Given the description of an element on the screen output the (x, y) to click on. 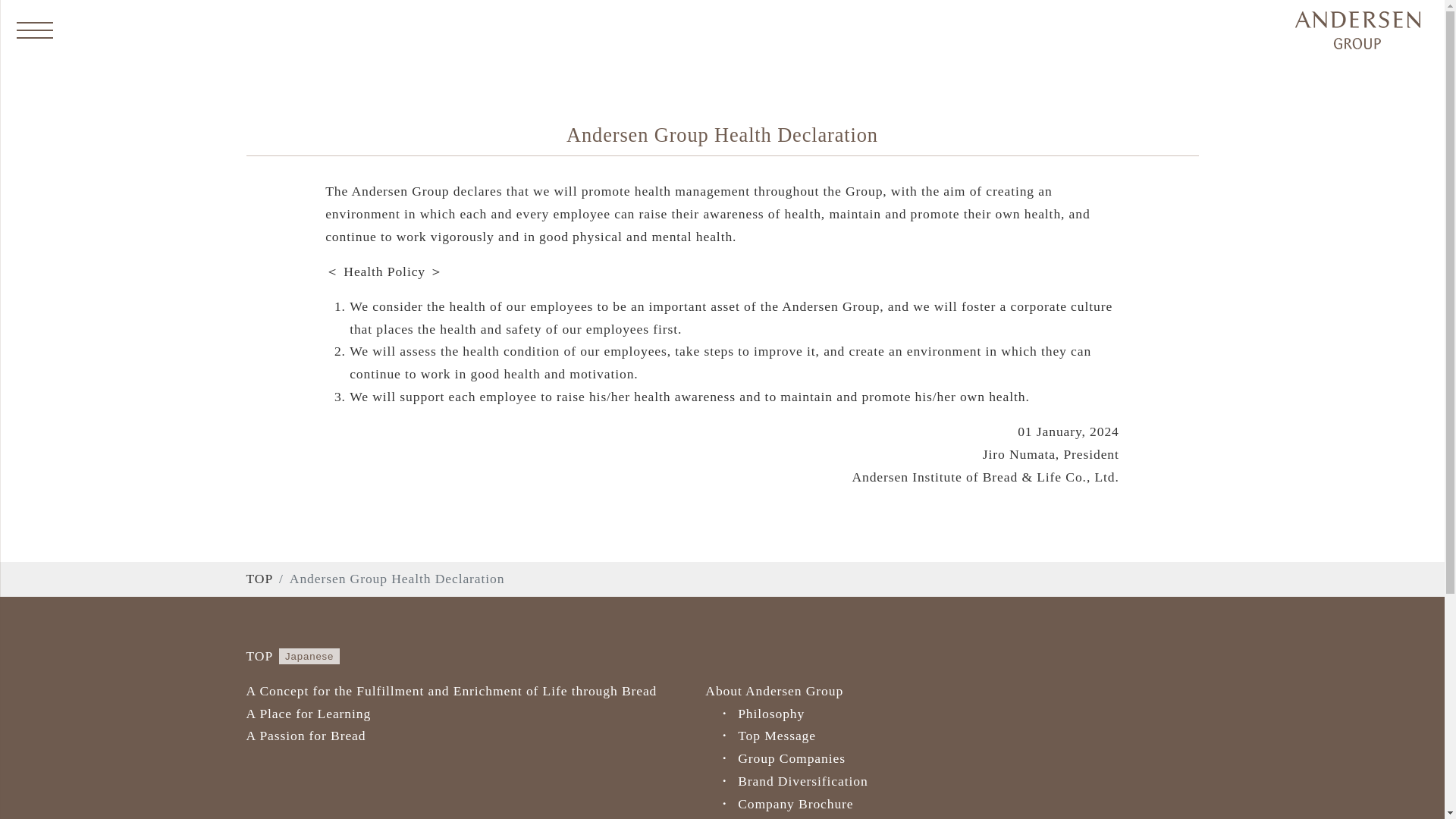
Company Brochure (857, 804)
About Andersen Group (773, 690)
A Passion for Bread (305, 735)
A Place for Learning (308, 713)
Japanese (309, 656)
TOP (259, 656)
Top Message (857, 735)
Brand Diversification (857, 781)
Philosophy (857, 713)
